Given the description of an element on the screen output the (x, y) to click on. 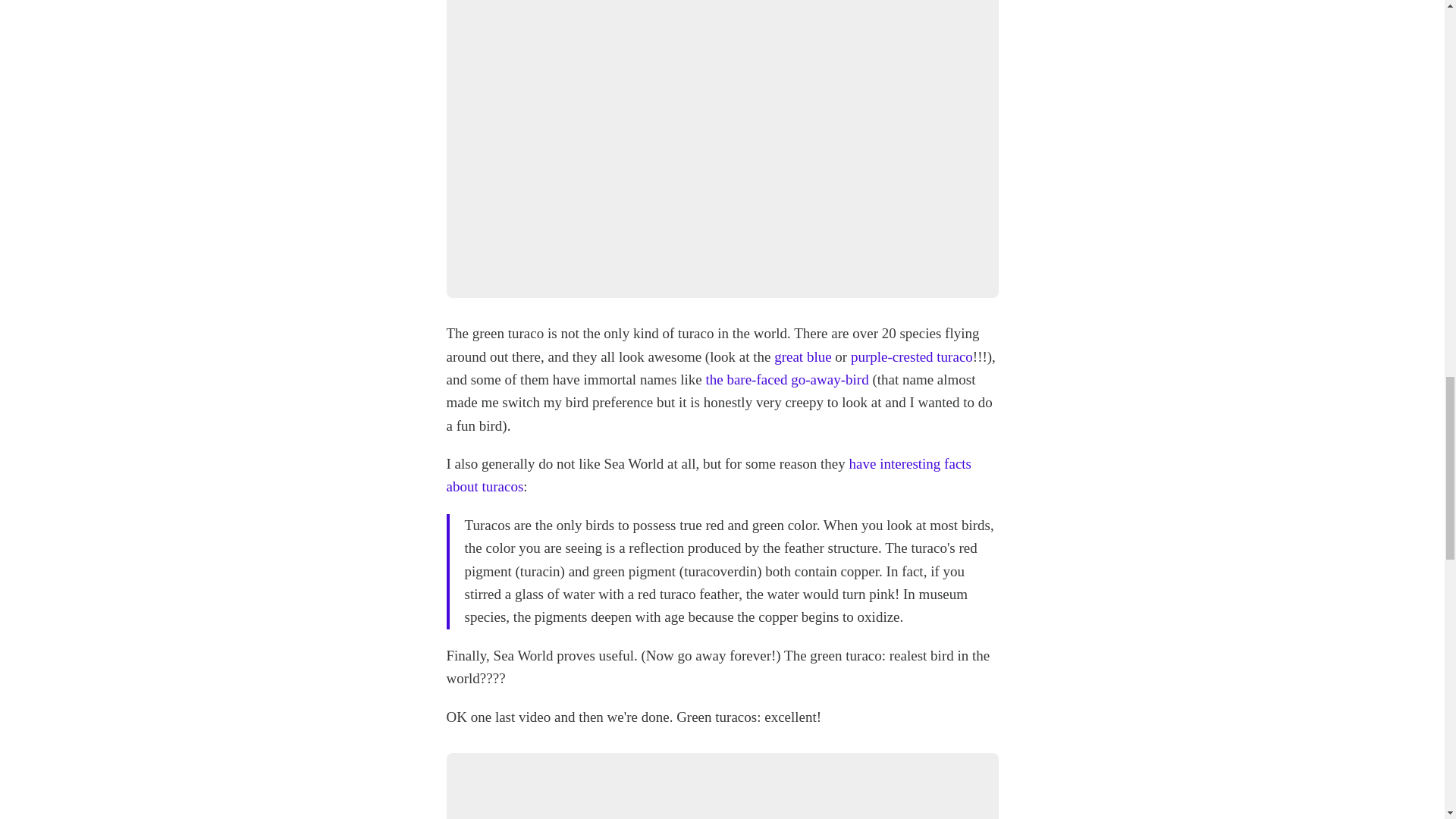
have interesting facts about turacos (708, 474)
purple-crested turaco (911, 356)
the bare-faced go-away-bird (785, 379)
great blue (802, 356)
